Given the description of an element on the screen output the (x, y) to click on. 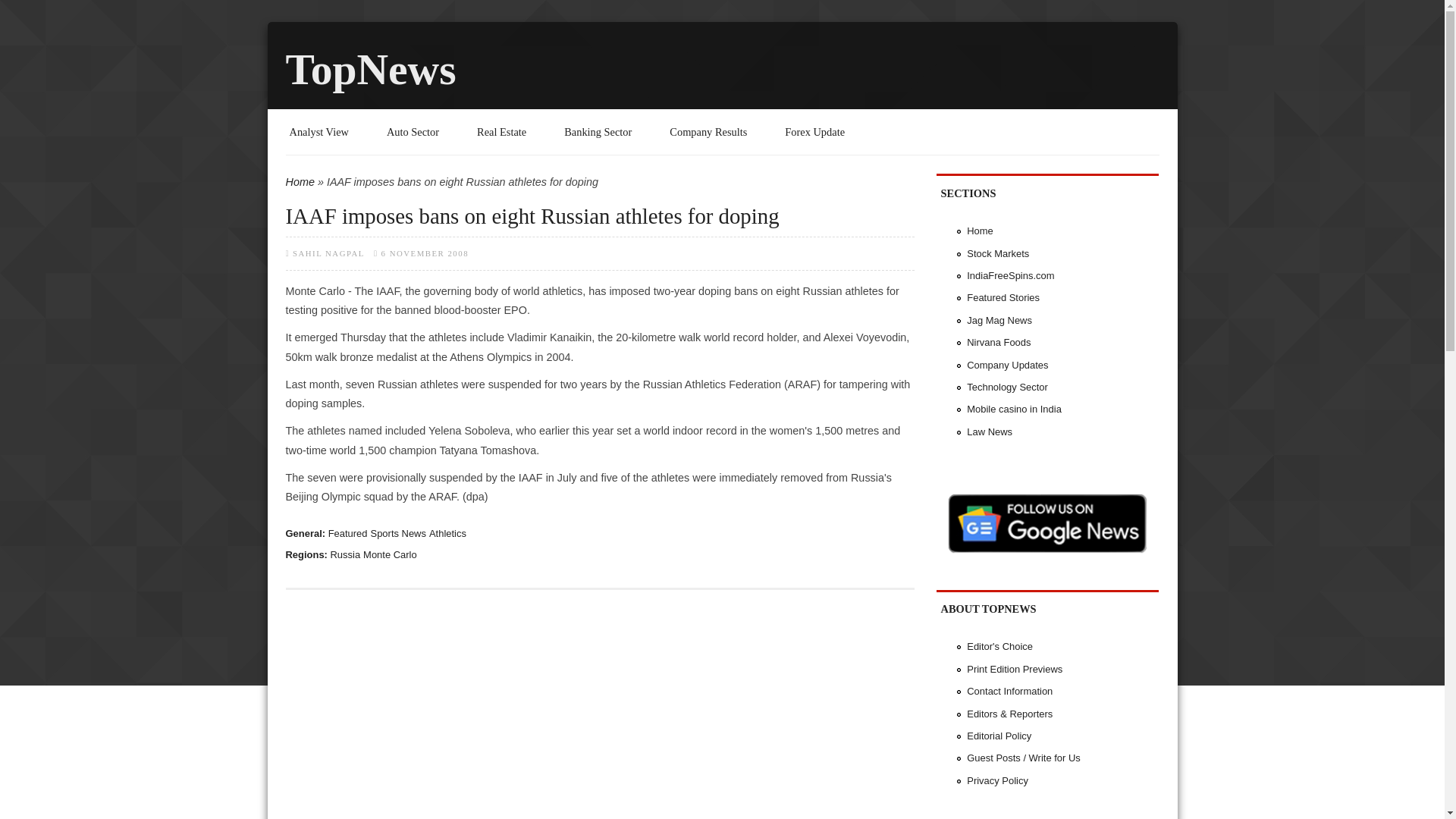
Monte Carlo (389, 554)
Company Results (707, 132)
Sports News (398, 532)
Jag Mag News (999, 319)
Analyst View (319, 132)
Stock Markets (997, 253)
TopNews (370, 69)
IndiaFreeSpins.com (1010, 275)
Forex Update (814, 132)
Auto Sector (413, 132)
